Given the description of an element on the screen output the (x, y) to click on. 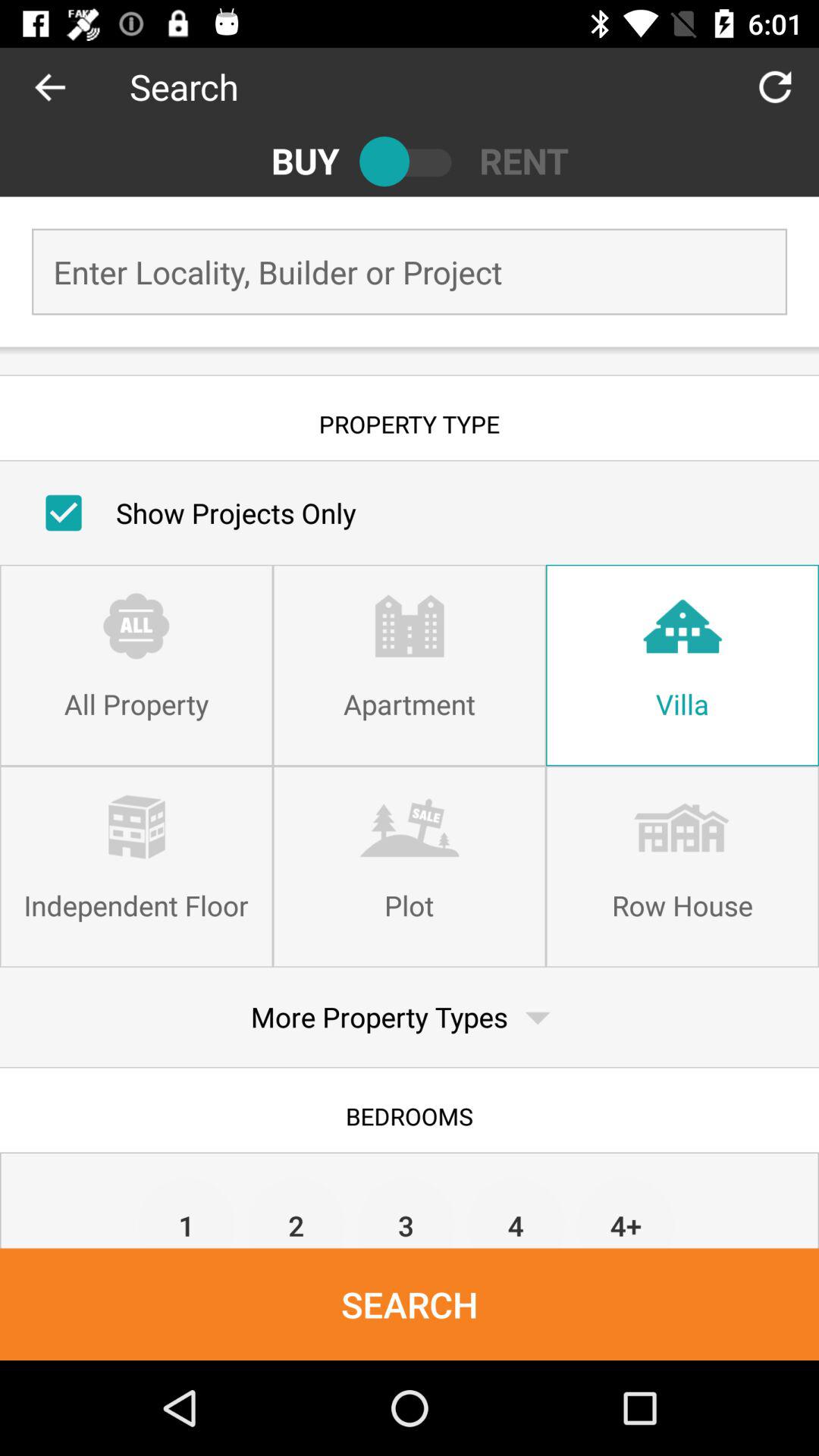
choose the icon to the left of 4 (406, 1212)
